Given the description of an element on the screen output the (x, y) to click on. 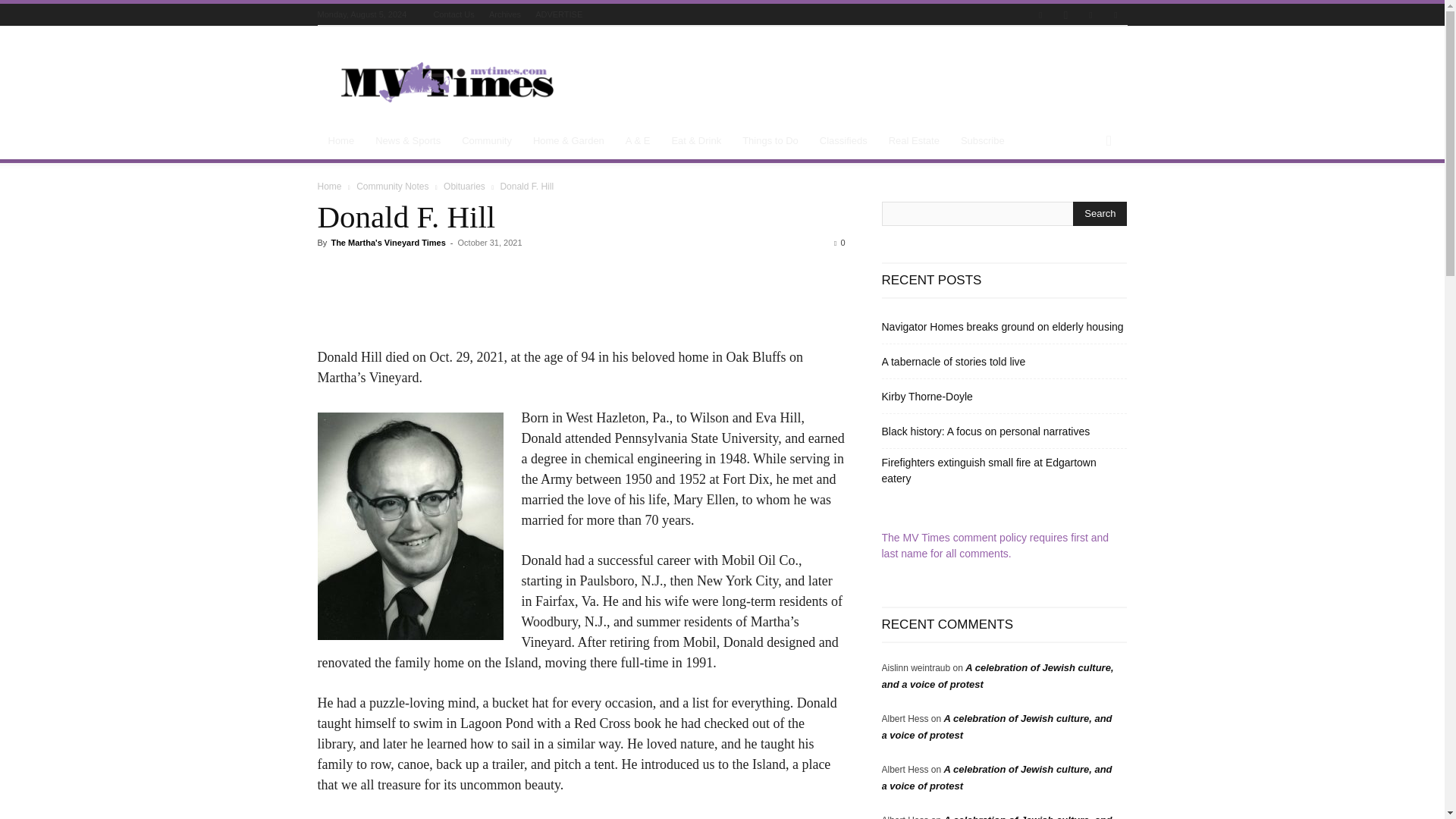
Subscribe (982, 140)
Youtube (1114, 14)
ADVERTISE (558, 13)
Facebook (1040, 14)
Community (486, 140)
Things to Do (770, 140)
Contact Us (453, 13)
Real Estate (913, 140)
Twitter (1090, 14)
Home (341, 140)
